Given the description of an element on the screen output the (x, y) to click on. 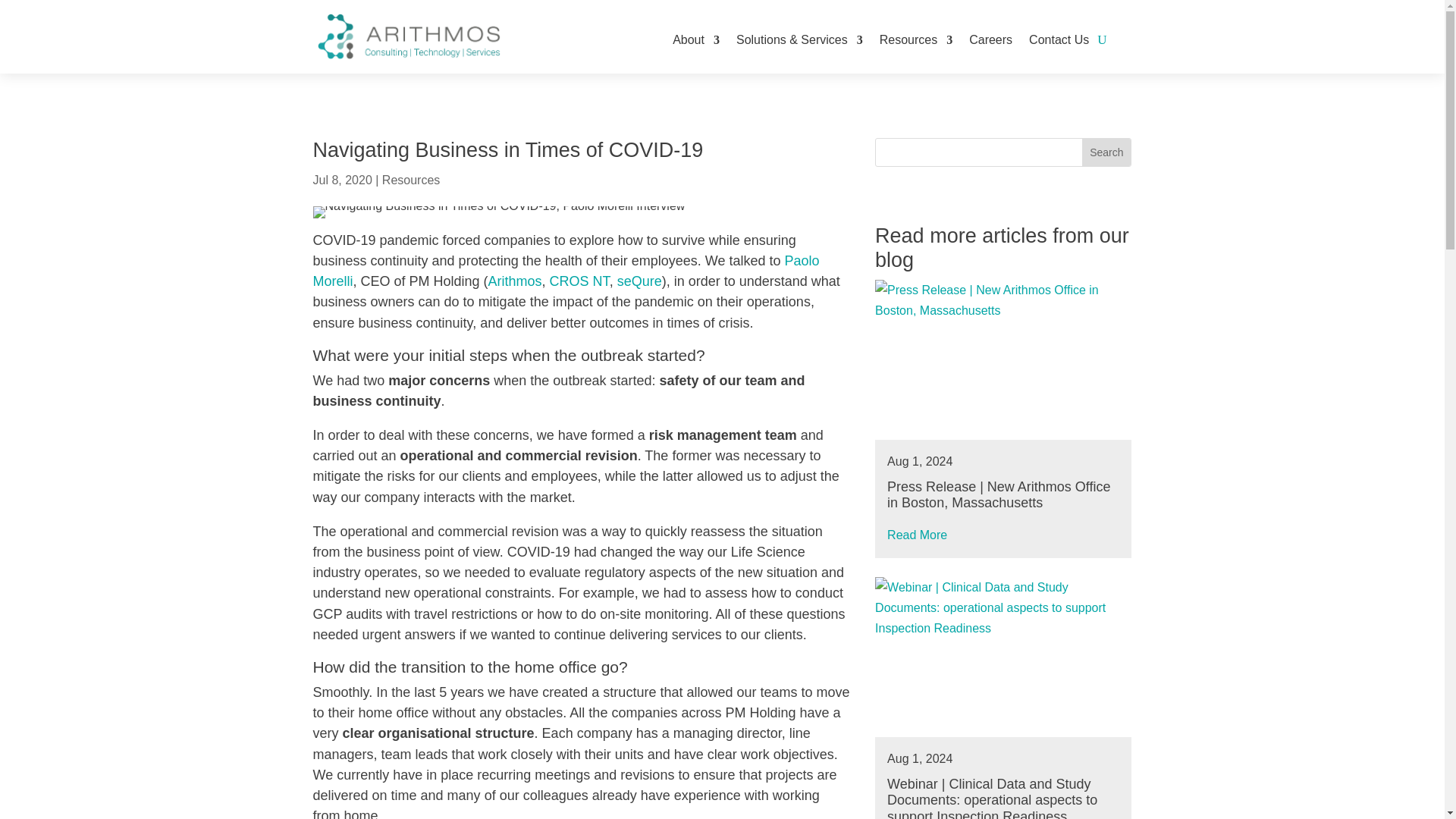
Arithmos (514, 281)
seQure (639, 281)
Search (1106, 152)
Paolo Morelli (565, 271)
Read More (919, 534)
Resources (915, 40)
Contact Us (1059, 40)
Search (1106, 152)
Search (1106, 152)
